Given the description of an element on the screen output the (x, y) to click on. 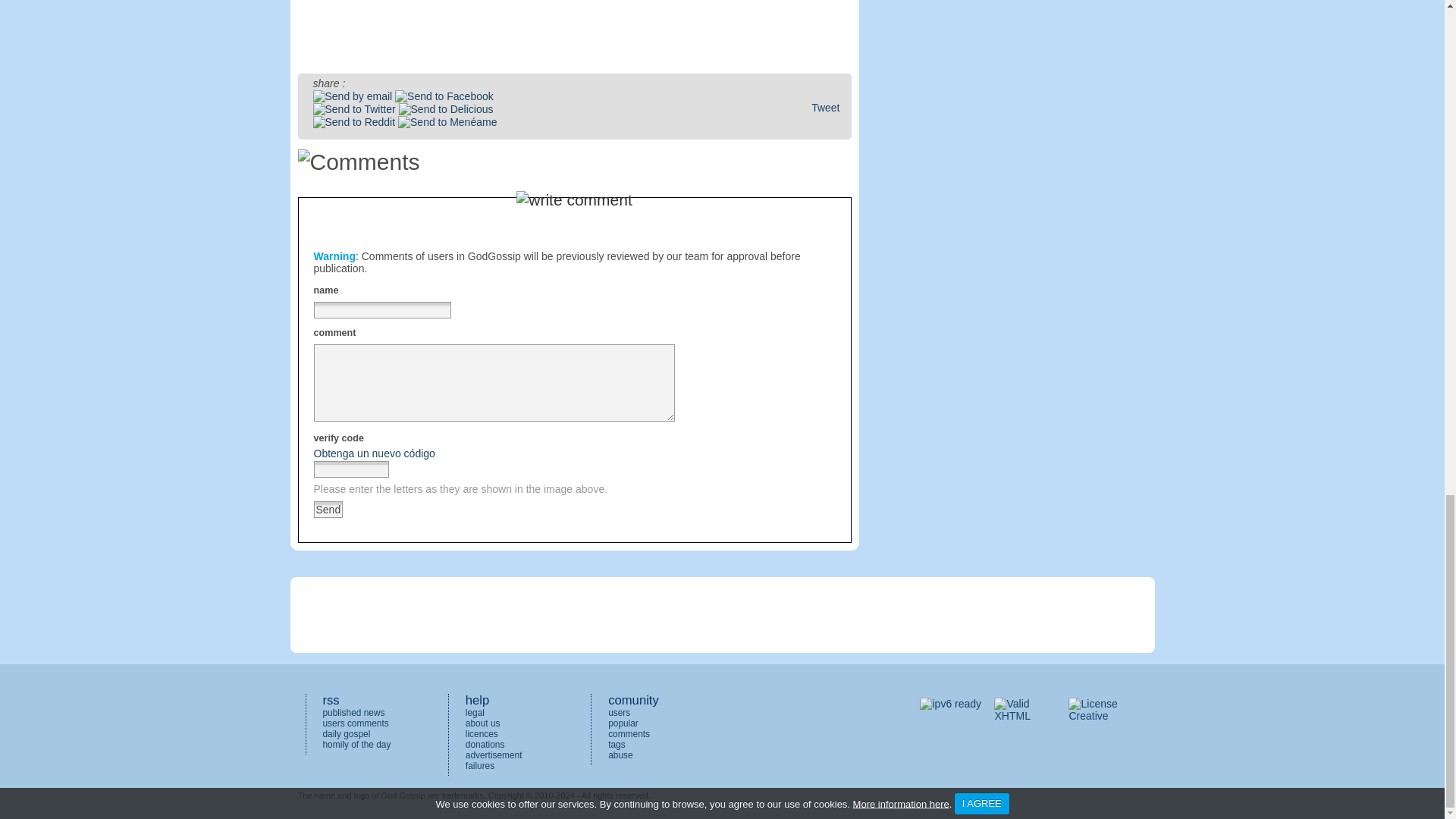
Send (328, 509)
